Given the description of an element on the screen output the (x, y) to click on. 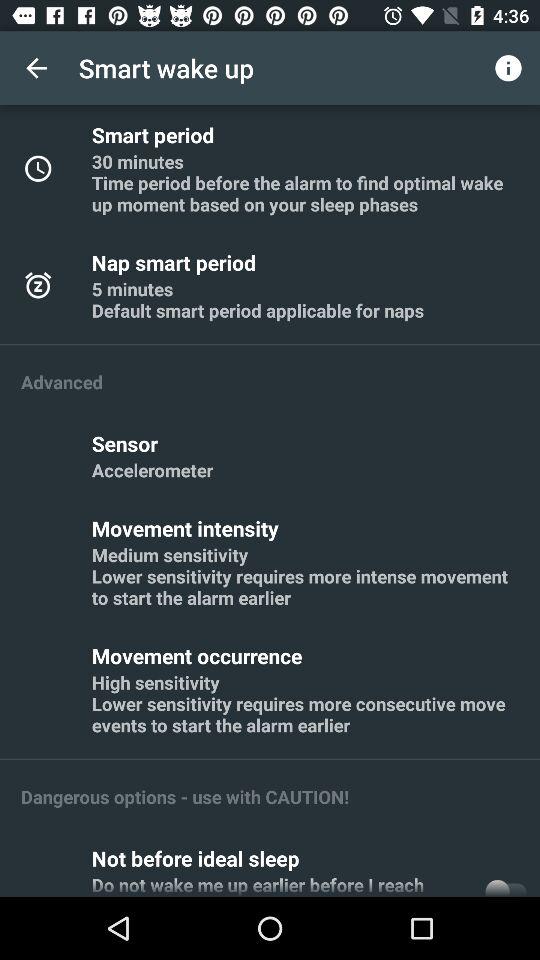
press icon next to the do not wake item (505, 883)
